Given the description of an element on the screen output the (x, y) to click on. 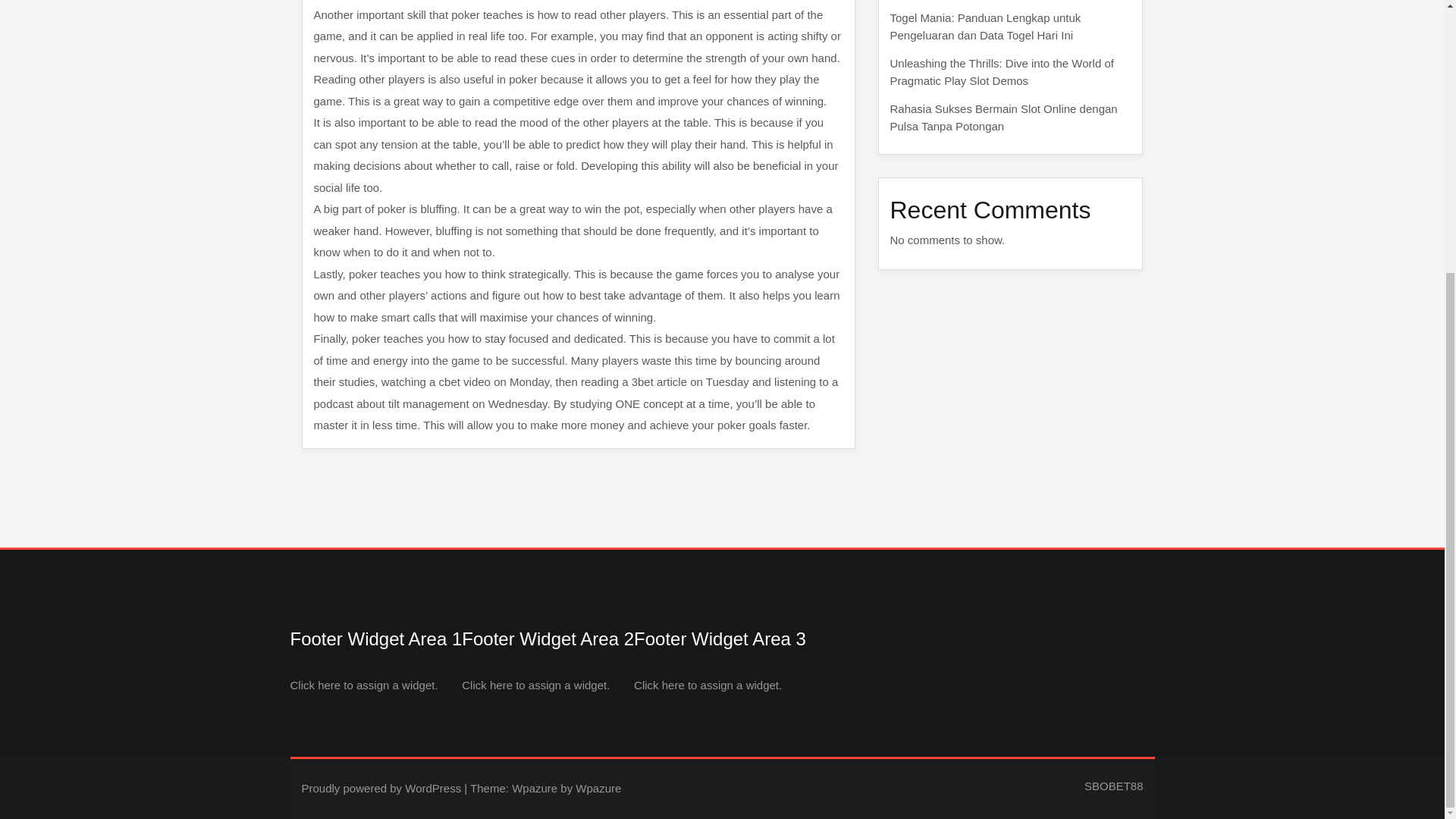
Wpazure (534, 788)
Click here to assign a widget. (707, 684)
Proudly powered by WordPress (381, 788)
Click here to assign a widget. (363, 684)
Click here to assign a widget. (535, 684)
SBOBET88 (1113, 785)
SBOBET88 (1113, 785)
